Given the description of an element on the screen output the (x, y) to click on. 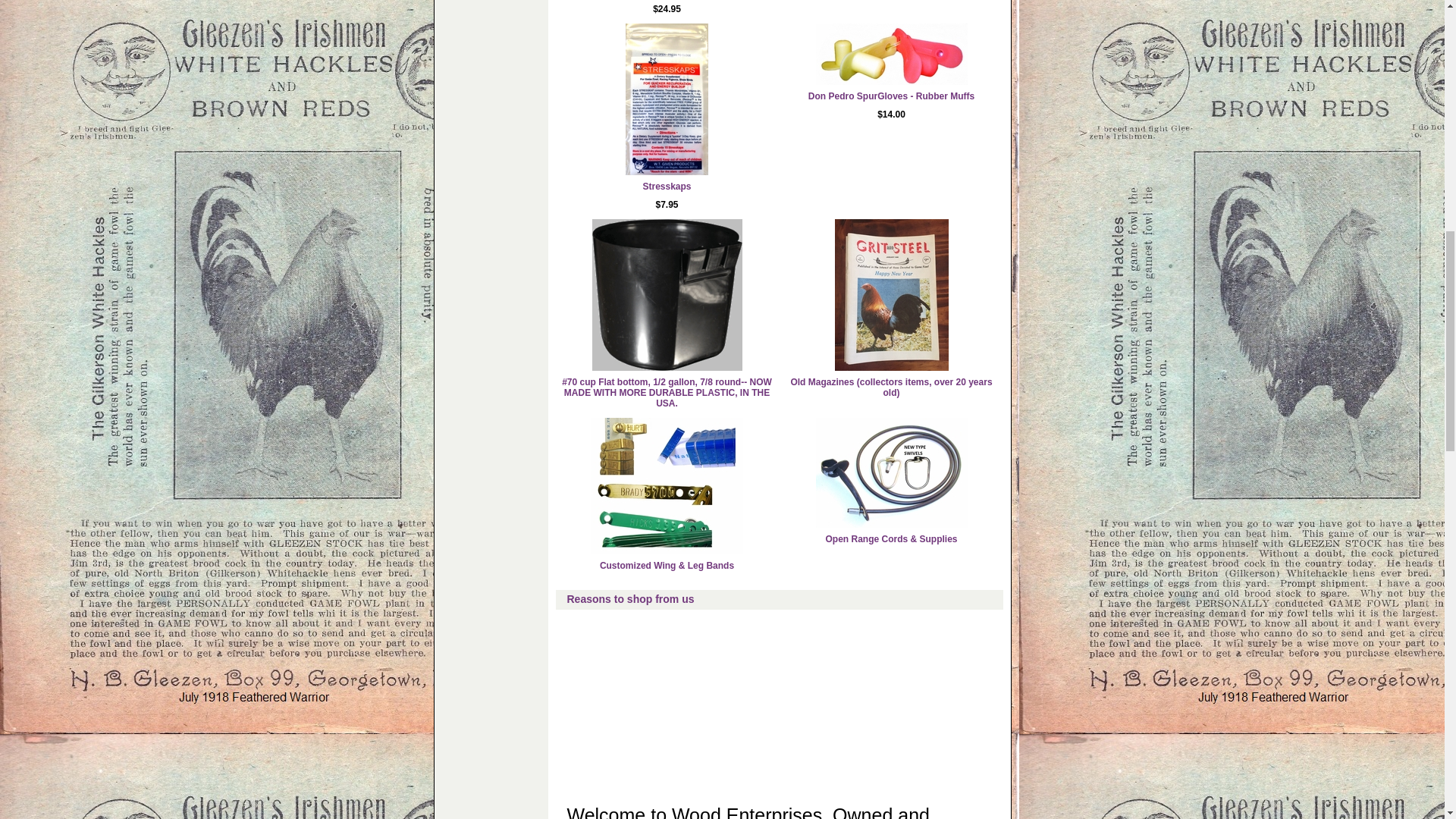
Don Pedro SpurGloves - Rubber Muffs (891, 95)
Don Pedro SpurGloves - Rubber Muffs (891, 95)
Stresskaps (666, 185)
Don Pedro SpurGloves - Rubber Muffs (891, 54)
Stresskaps   (666, 185)
